Given the description of an element on the screen output the (x, y) to click on. 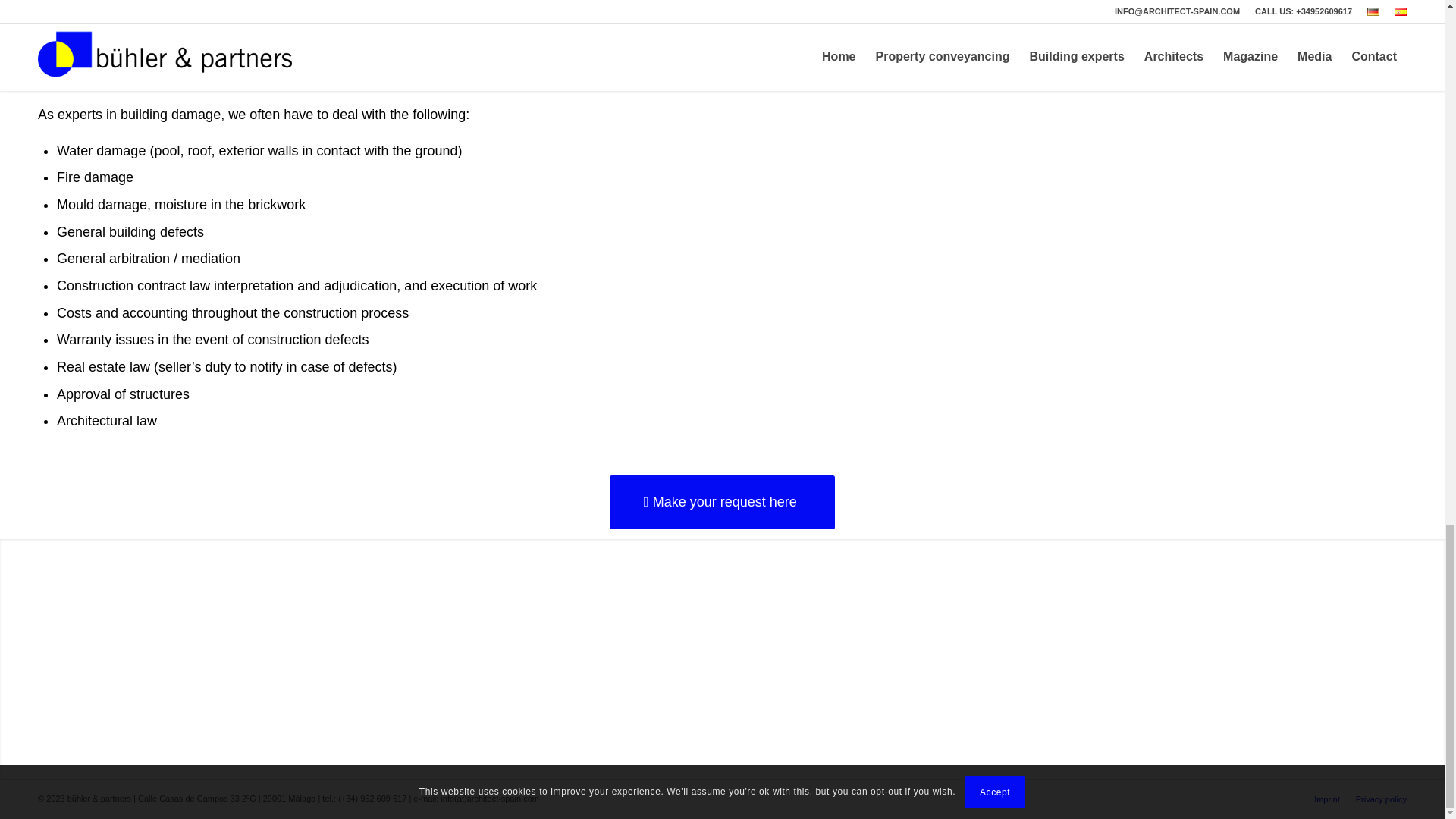
Privacy policy (1380, 798)
Make your request here (722, 502)
Imprint (1326, 798)
